Given the description of an element on the screen output the (x, y) to click on. 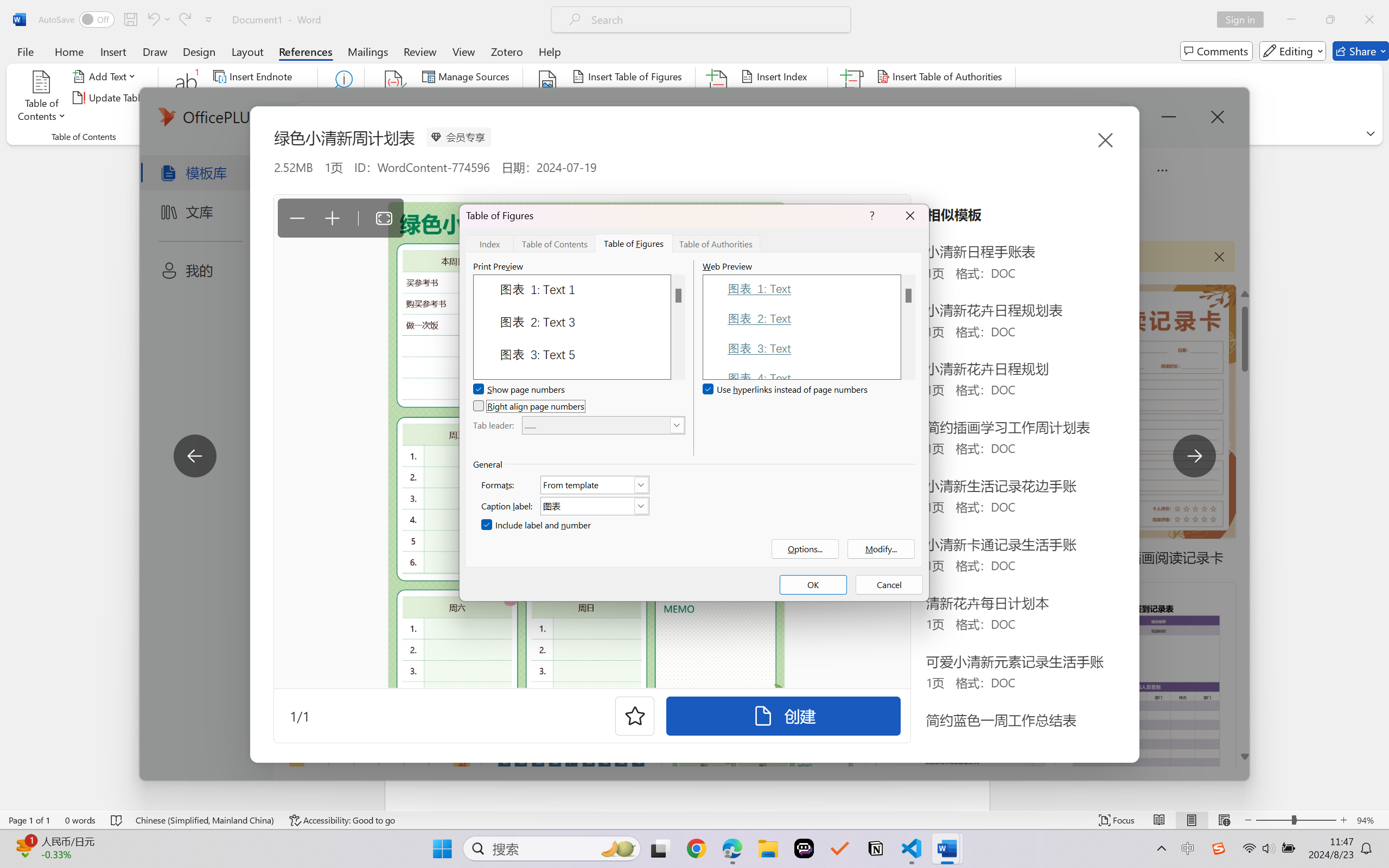
Insert Index... (775, 75)
Cross-reference... (615, 118)
Editing (1292, 50)
Insert Citation (393, 97)
Style (488, 97)
